Given the description of an element on the screen output the (x, y) to click on. 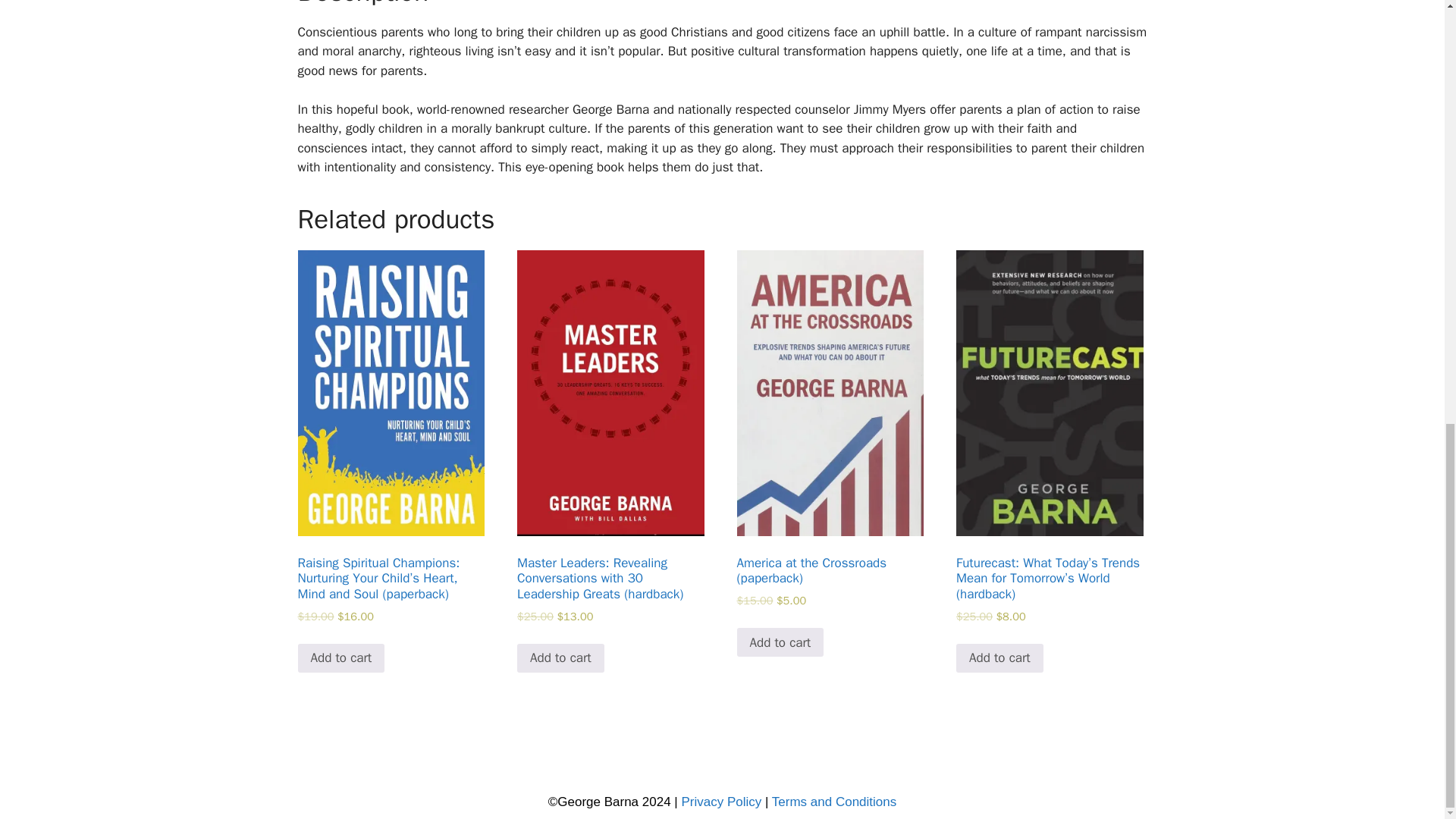
Add to cart (560, 657)
Add to cart (999, 657)
Terms and Conditions (833, 801)
Privacy Policy (721, 801)
Add to cart (780, 642)
Add to cart (340, 657)
